Given the description of an element on the screen output the (x, y) to click on. 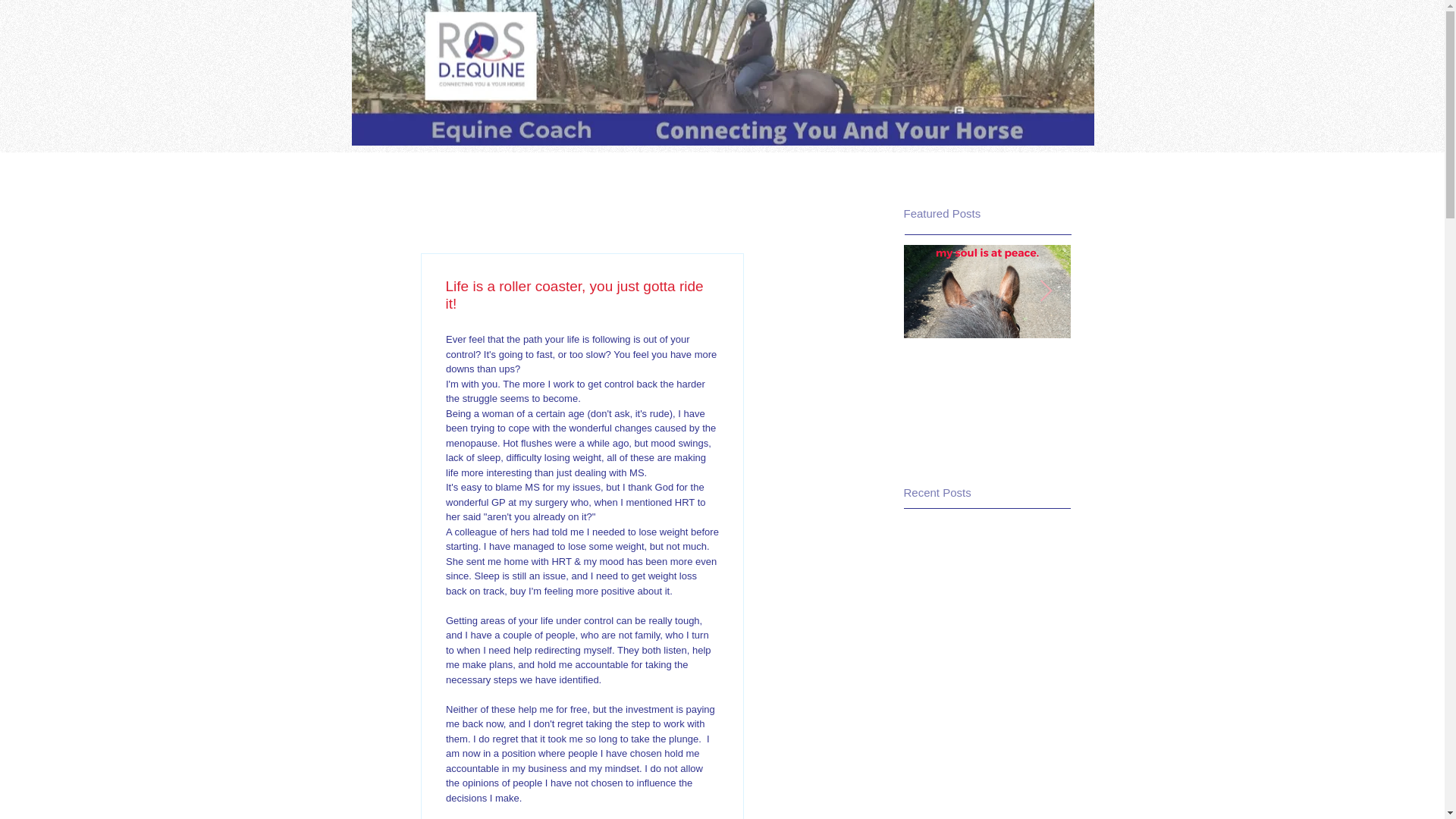
Where does your soul find peace? (987, 412)
Schooling at home (723, 72)
Who am I, besides a horse lover and a riding instructor? (1153, 386)
